Given the description of an element on the screen output the (x, y) to click on. 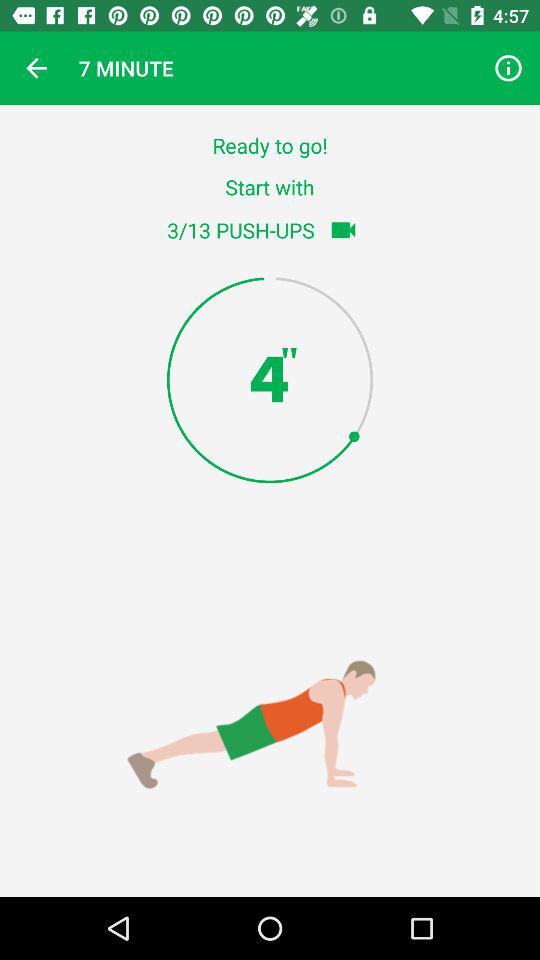
turn off the app next to 7 minute icon (36, 68)
